Given the description of an element on the screen output the (x, y) to click on. 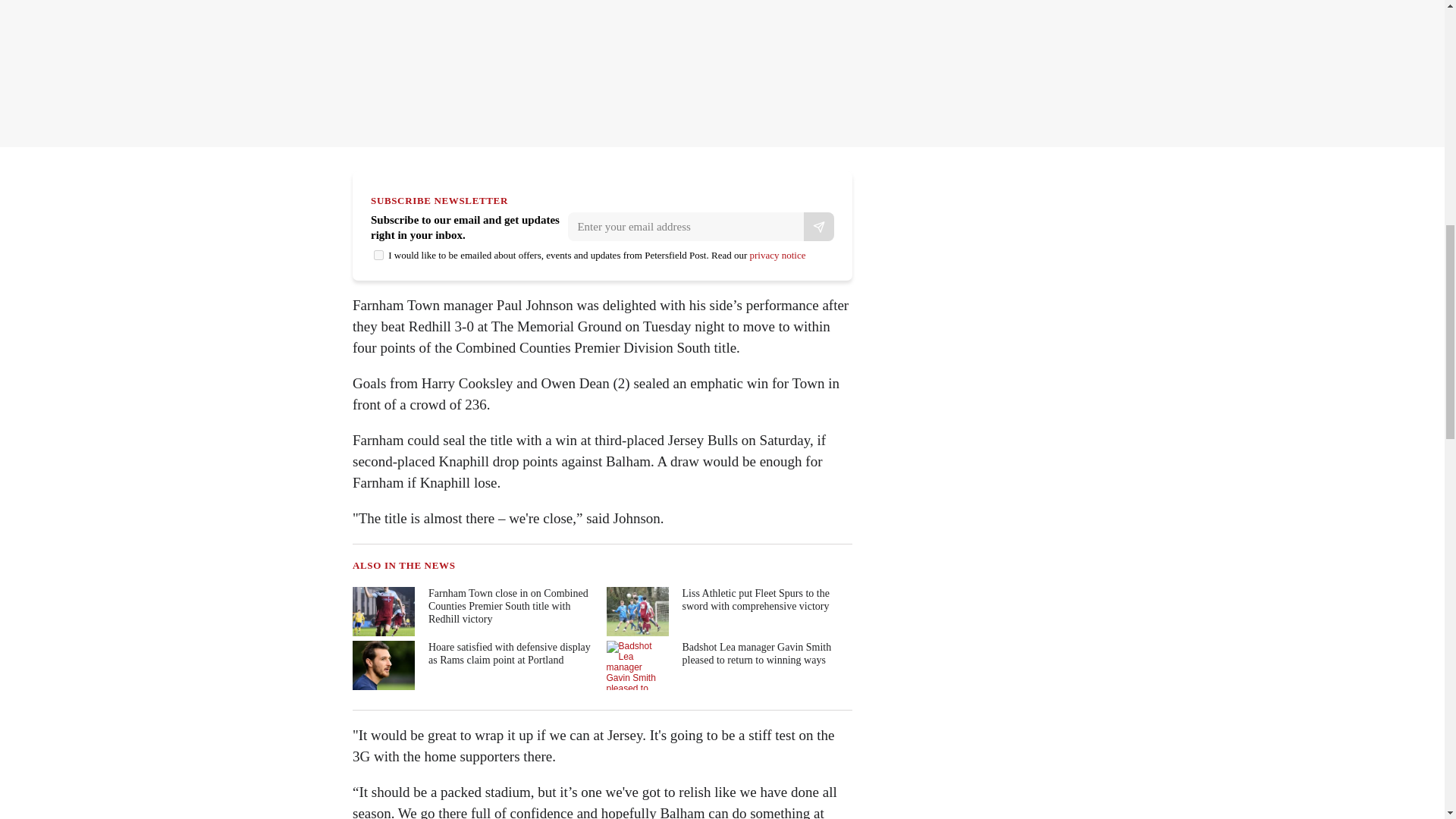
privacy notice (777, 255)
on (379, 255)
